Given the description of an element on the screen output the (x, y) to click on. 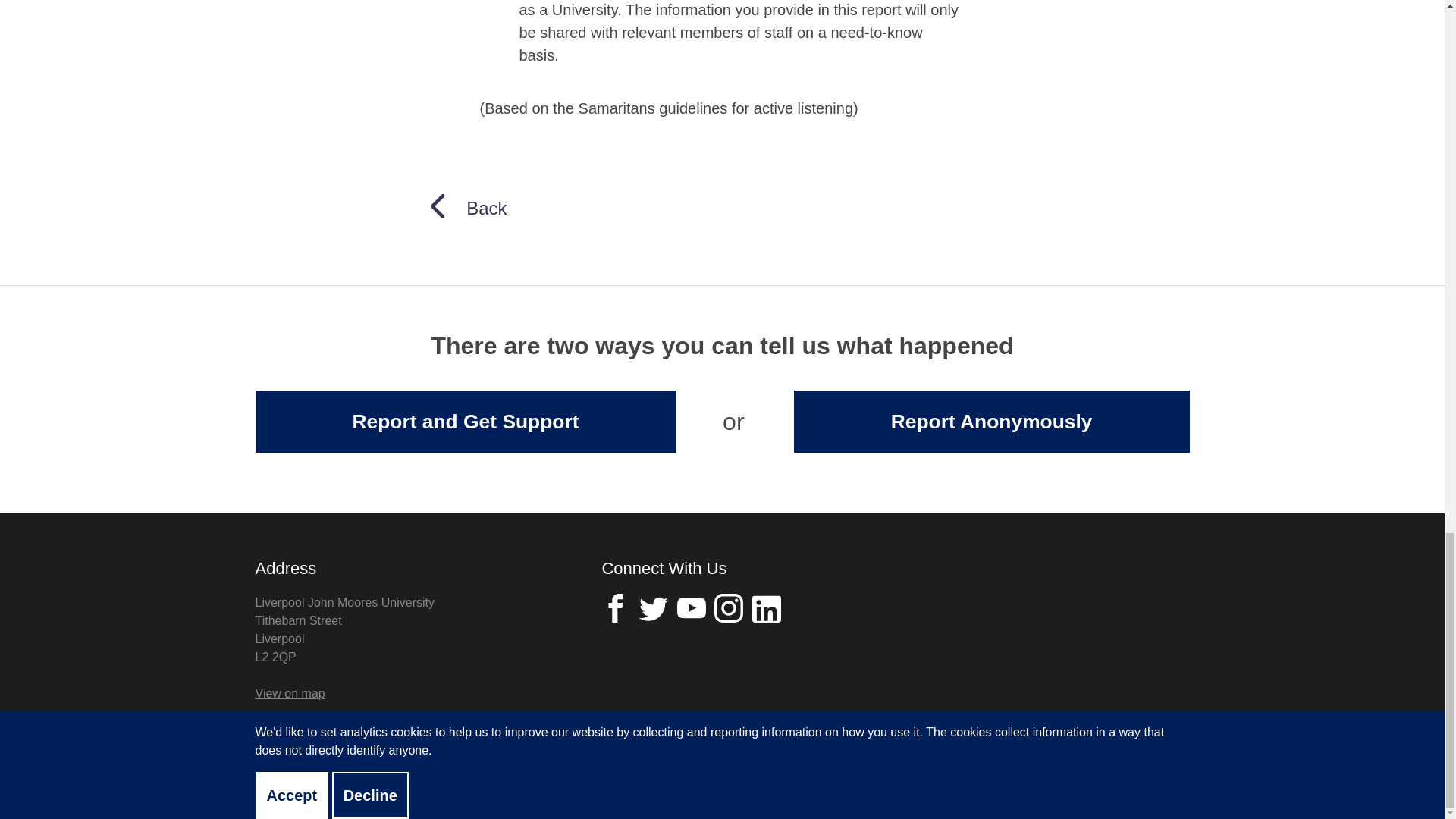
Culture Shift (1136, 782)
Back (465, 208)
Report Anonymously (991, 421)
View on map (289, 693)
Report and Get Support (464, 421)
Privacy Notice (292, 783)
Licensed by Culture Shift (1102, 786)
Cookie Control (396, 783)
